Given the description of an element on the screen output the (x, y) to click on. 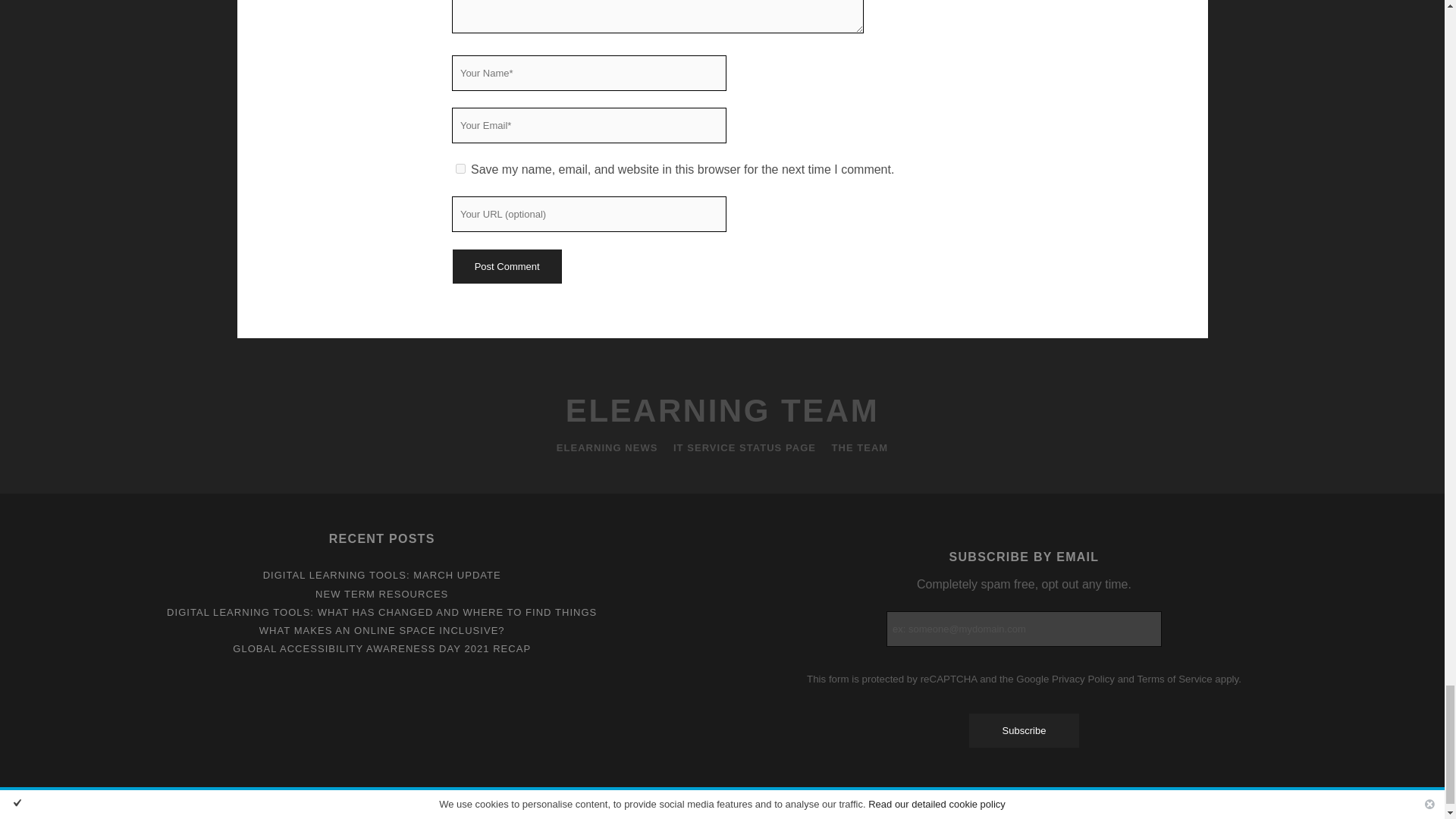
Post Comment (505, 266)
yes (459, 168)
Subscribe (1023, 730)
news (607, 447)
